Given the description of an element on the screen output the (x, y) to click on. 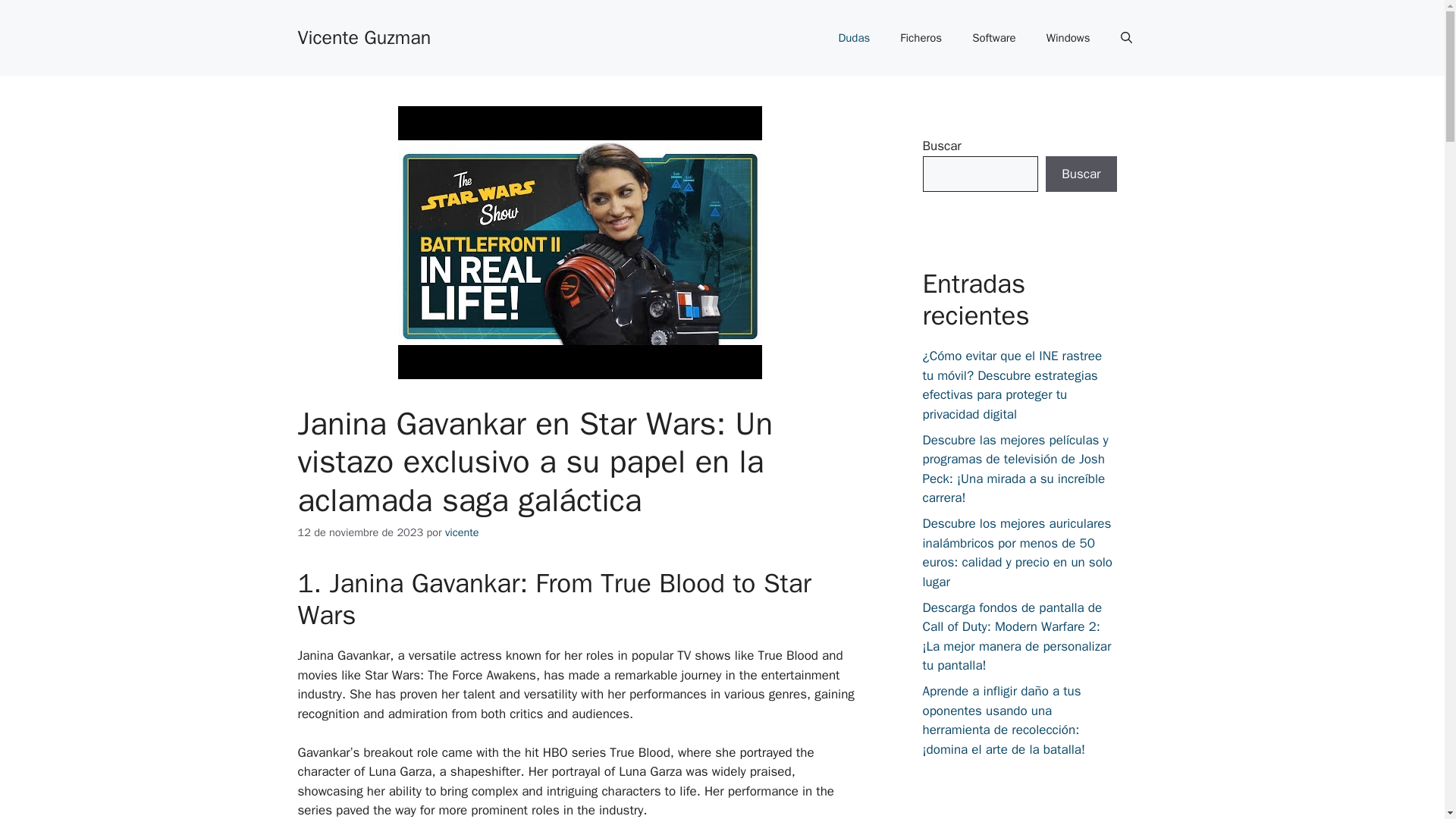
Ver todas las entradas de vicente (462, 531)
Buscar (1080, 174)
Software (993, 37)
Vicente Guzman (363, 37)
vicente (462, 531)
Dudas (853, 37)
Ficheros (920, 37)
Windows (1067, 37)
